Given the description of an element on the screen output the (x, y) to click on. 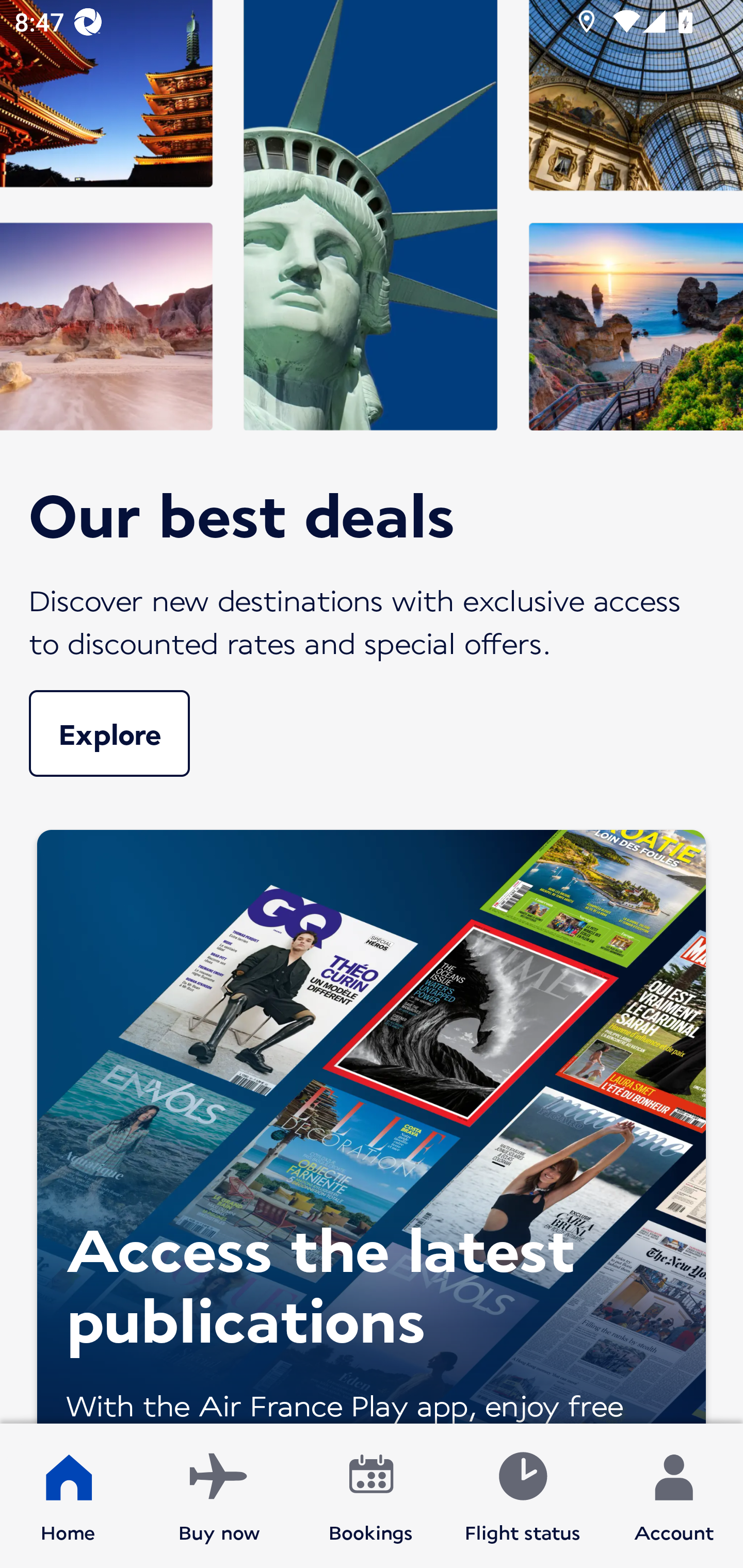
Buy now (219, 1495)
Bookings (370, 1495)
Flight status (522, 1495)
Account (674, 1495)
